Given the description of an element on the screen output the (x, y) to click on. 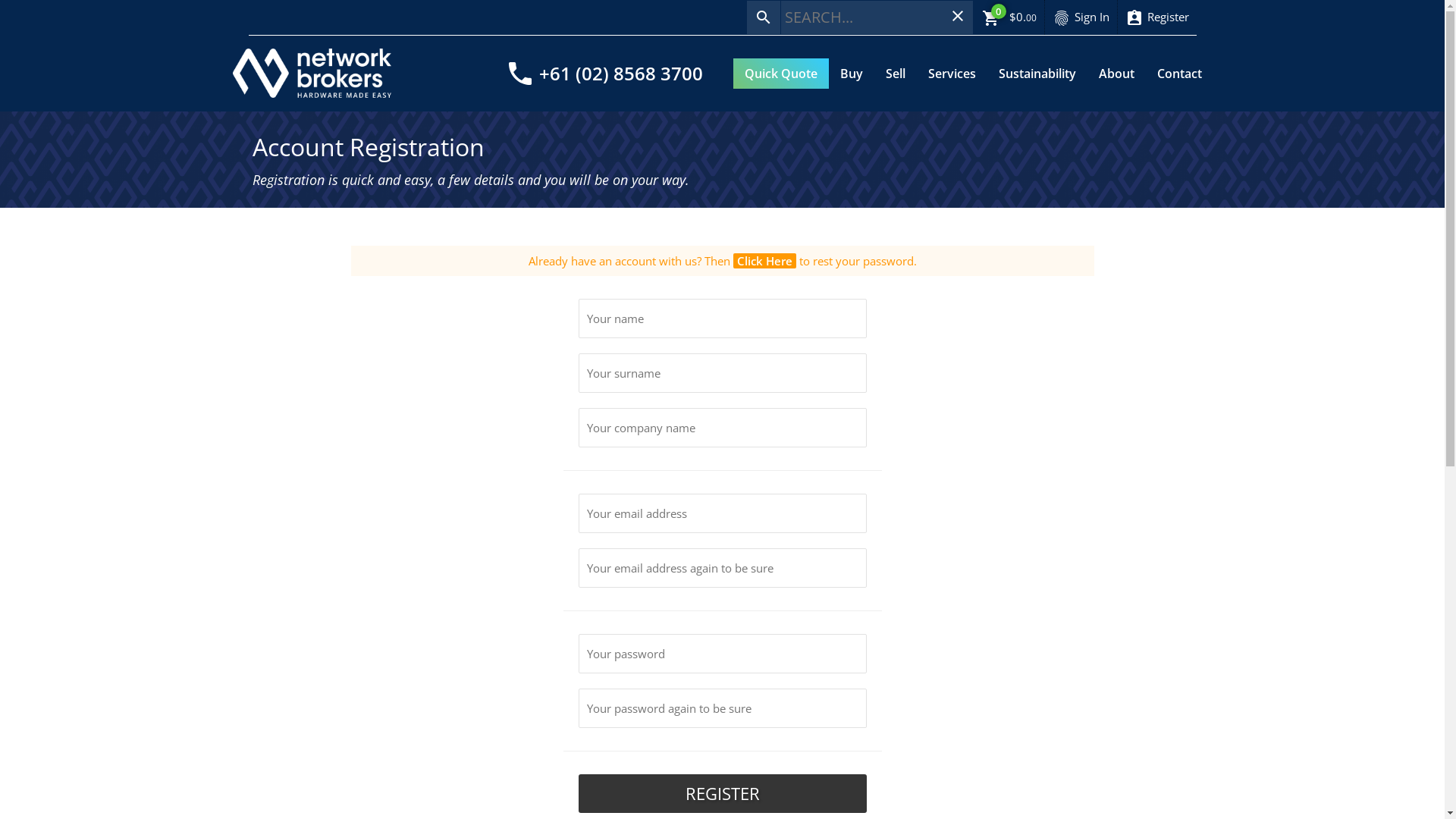
Buy Element type: text (850, 73)
Click Here Element type: text (763, 260)
Quick Quote Element type: text (780, 73)
About Element type: text (1116, 73)
+61 (02) 8568 3700 Element type: text (620, 72)
Sustainability Element type: text (1037, 73)
Services Element type: text (951, 73)
REGISTER Element type: text (721, 793)
Sell Element type: text (894, 73)
Contact Element type: text (1178, 73)
assignment_indRegister Element type: text (1157, 17)
